Given the description of an element on the screen output the (x, y) to click on. 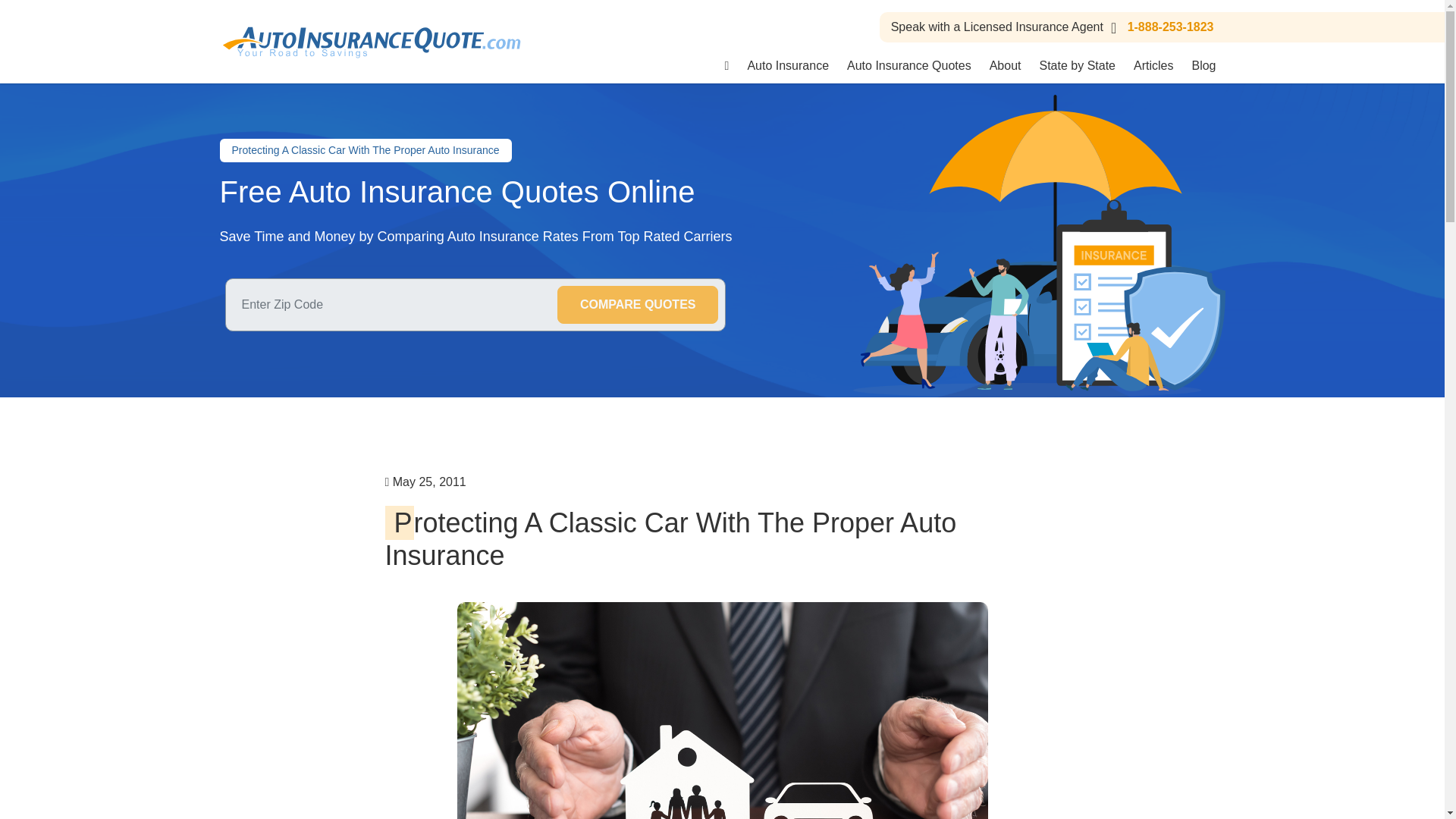
1-888-253-1823 (1158, 26)
Auto Insurance Quotes (908, 65)
About (1004, 65)
Auto Insurance (788, 65)
Blog (1203, 65)
State by State (1076, 65)
COMPARE QUOTES (638, 304)
Articles (1153, 65)
